Given the description of an element on the screen output the (x, y) to click on. 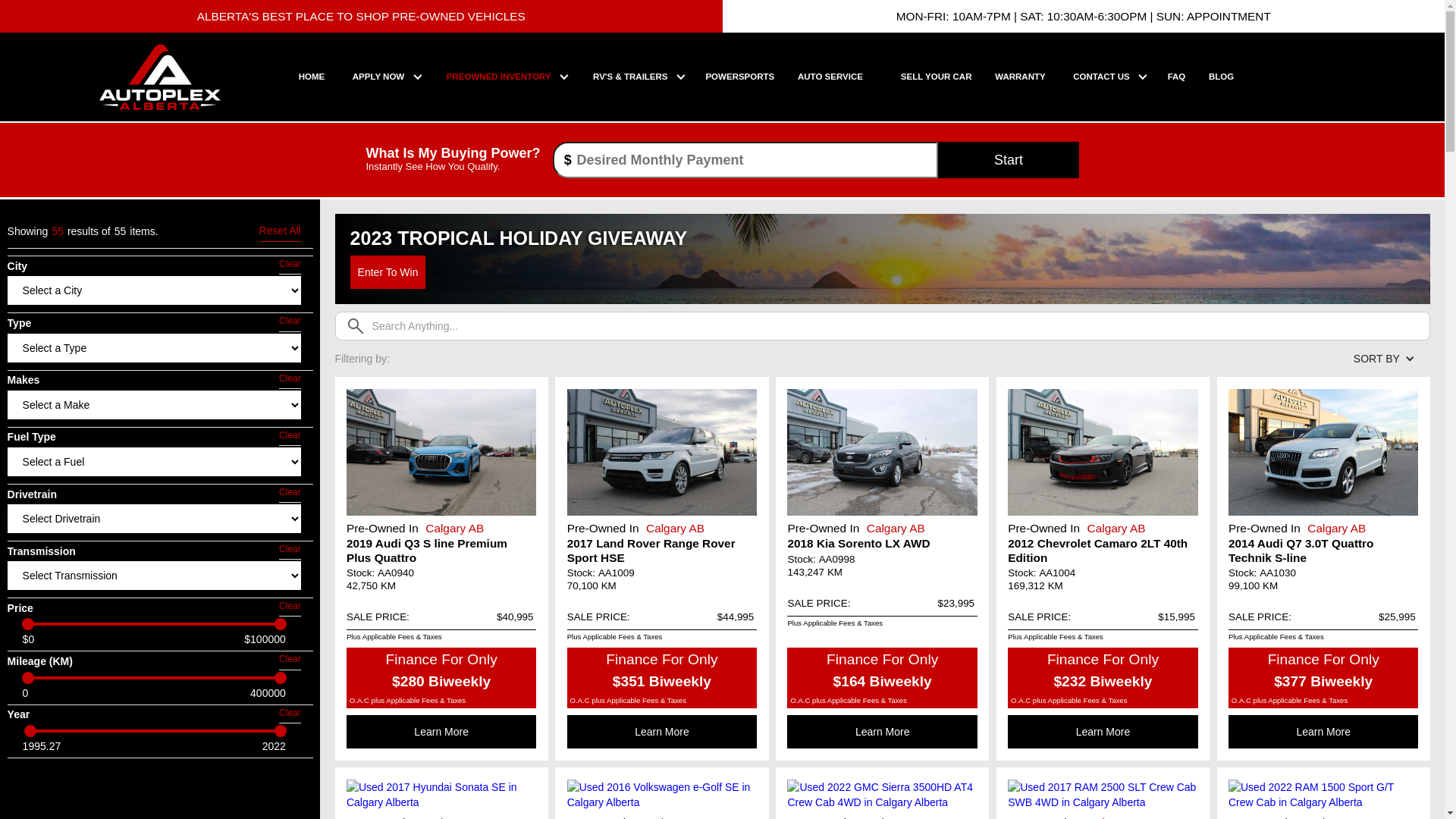
Learn More Element type: text (1102, 731)
Clear Element type: text (290, 265)
WARRANTY Element type: text (1019, 76)
Reset All Element type: text (280, 231)
CONTACT US Element type: text (1100, 76)
SELL YOUR CAR Element type: text (935, 76)
Clear Element type: text (290, 436)
AUTO SERVICE Element type: text (829, 76)
Enter To Win Element type: text (388, 271)
HOME Element type: text (311, 76)
RV'S & TRAILERS Element type: text (629, 76)
BLOG Element type: text (1221, 76)
APPLY NOW Element type: text (378, 76)
Learn More Element type: text (881, 731)
FAQ Element type: text (1176, 76)
Clear Element type: text (290, 660)
Learn More Element type: text (661, 731)
Learn More Element type: text (1323, 731)
Clear Element type: text (290, 550)
Clear Element type: text (290, 607)
Clear Element type: text (290, 493)
Clear Element type: text (290, 322)
PREOWNED INVENTORY Element type: text (498, 76)
Start Element type: text (1008, 159)
Clear Element type: text (290, 379)
Clear Element type: text (290, 714)
POWERSPORTS Element type: text (739, 76)
Learn More Element type: text (441, 731)
